Given the description of an element on the screen output the (x, y) to click on. 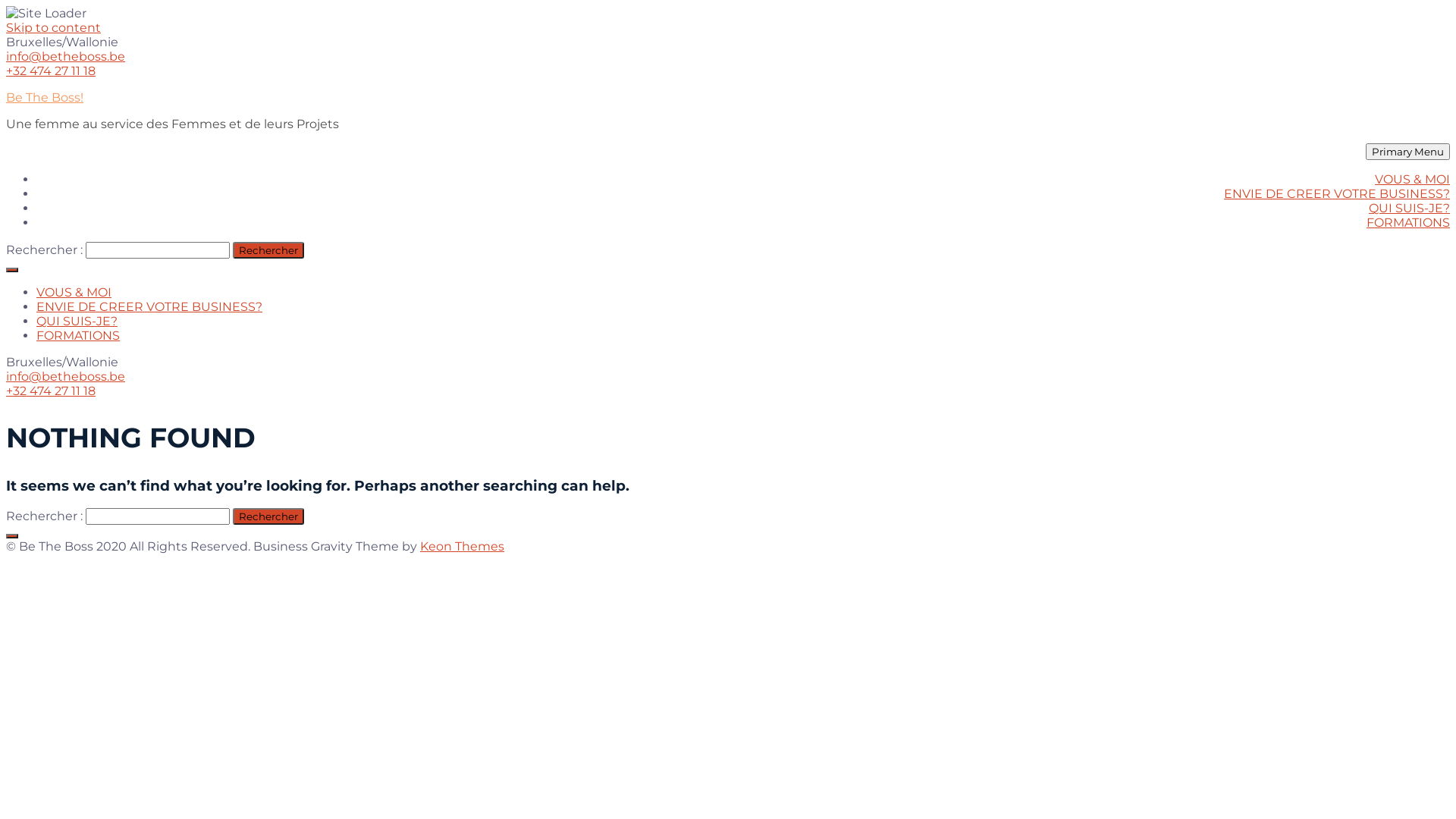
ENVIE DE CREER VOTRE BUSINESS? Element type: text (149, 306)
Primary Menu Element type: text (1407, 151)
Rechercher Element type: text (268, 249)
+32 474 27 11 18 Element type: text (50, 390)
VOUS & MOI Element type: text (73, 292)
VOUS & MOI Element type: text (1411, 179)
ENVIE DE CREER VOTRE BUSINESS? Element type: text (1336, 193)
FORMATIONS Element type: text (1407, 222)
Skip to content Element type: text (53, 27)
Be The Boss! Element type: text (44, 97)
FORMATIONS Element type: text (77, 335)
QUI SUIS-JE? Element type: text (76, 320)
Keon Themes Element type: text (462, 546)
info@betheboss.be Element type: text (65, 56)
QUI SUIS-JE? Element type: text (1408, 207)
+32 474 27 11 18 Element type: text (50, 70)
info@betheboss.be Element type: text (65, 376)
Rechercher Element type: text (268, 516)
